Given the description of an element on the screen output the (x, y) to click on. 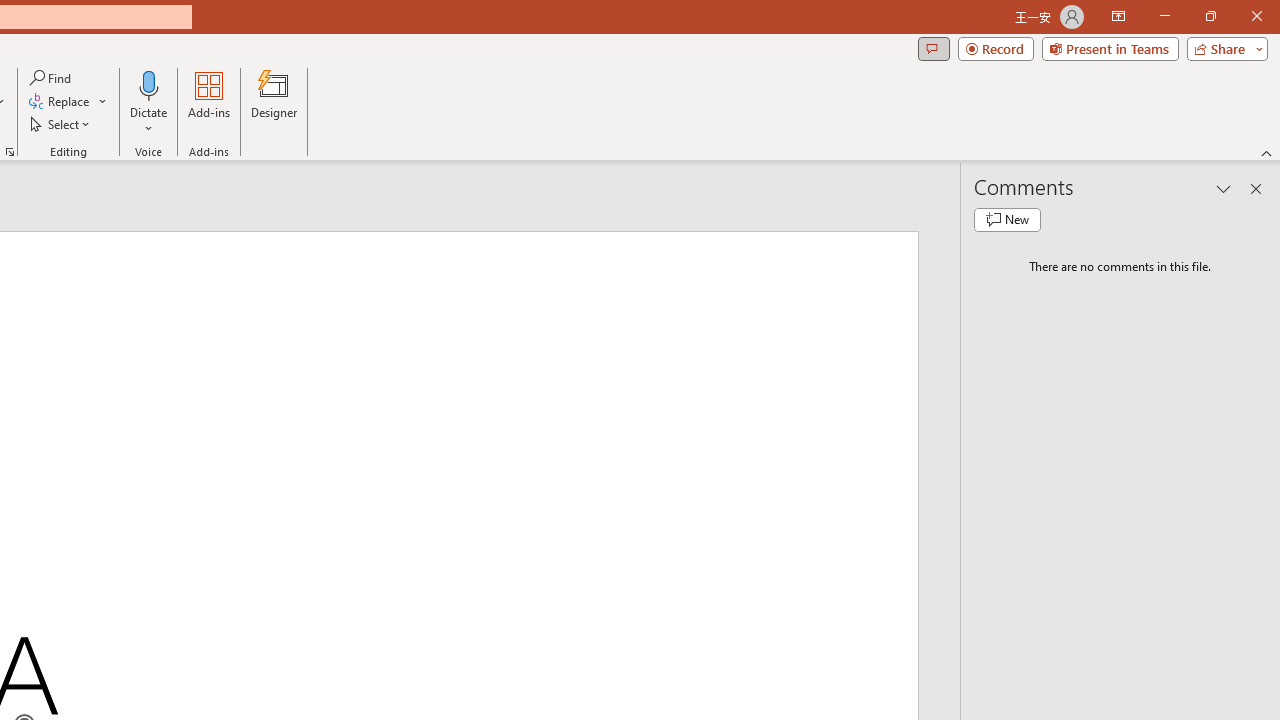
New comment (1007, 219)
